Given the description of an element on the screen output the (x, y) to click on. 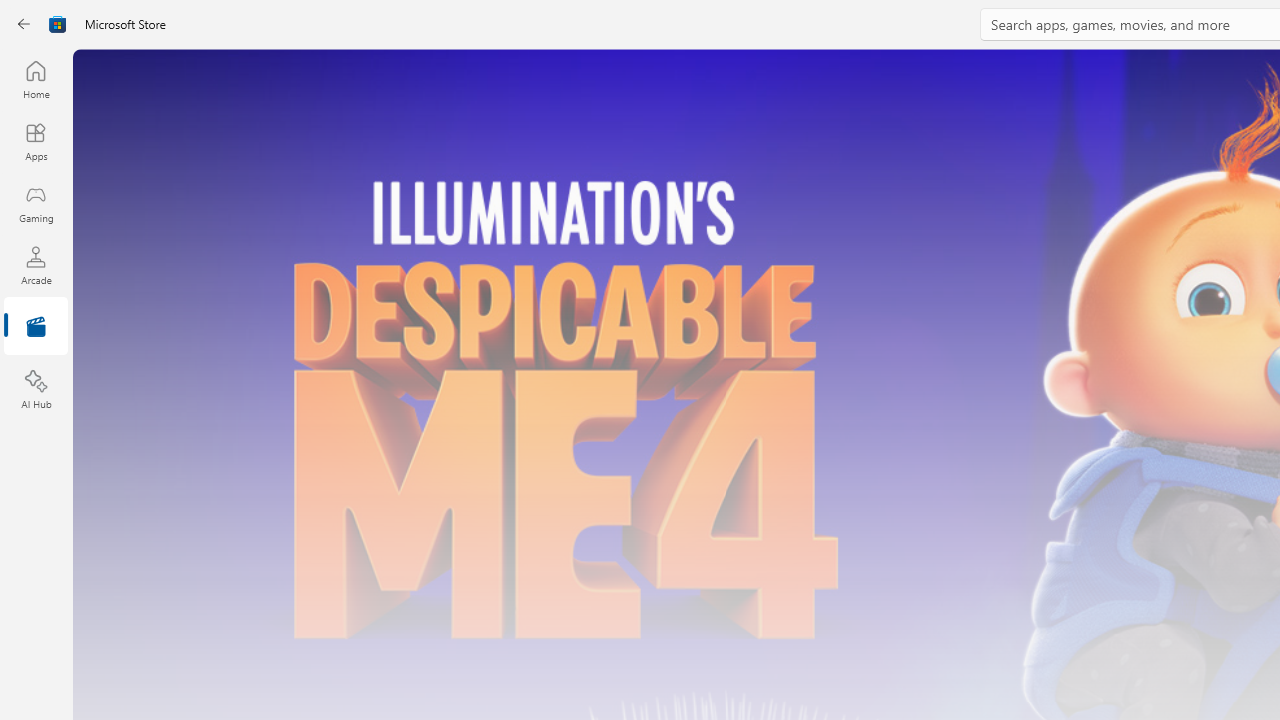
Back (24, 24)
